Given the description of an element on the screen output the (x, y) to click on. 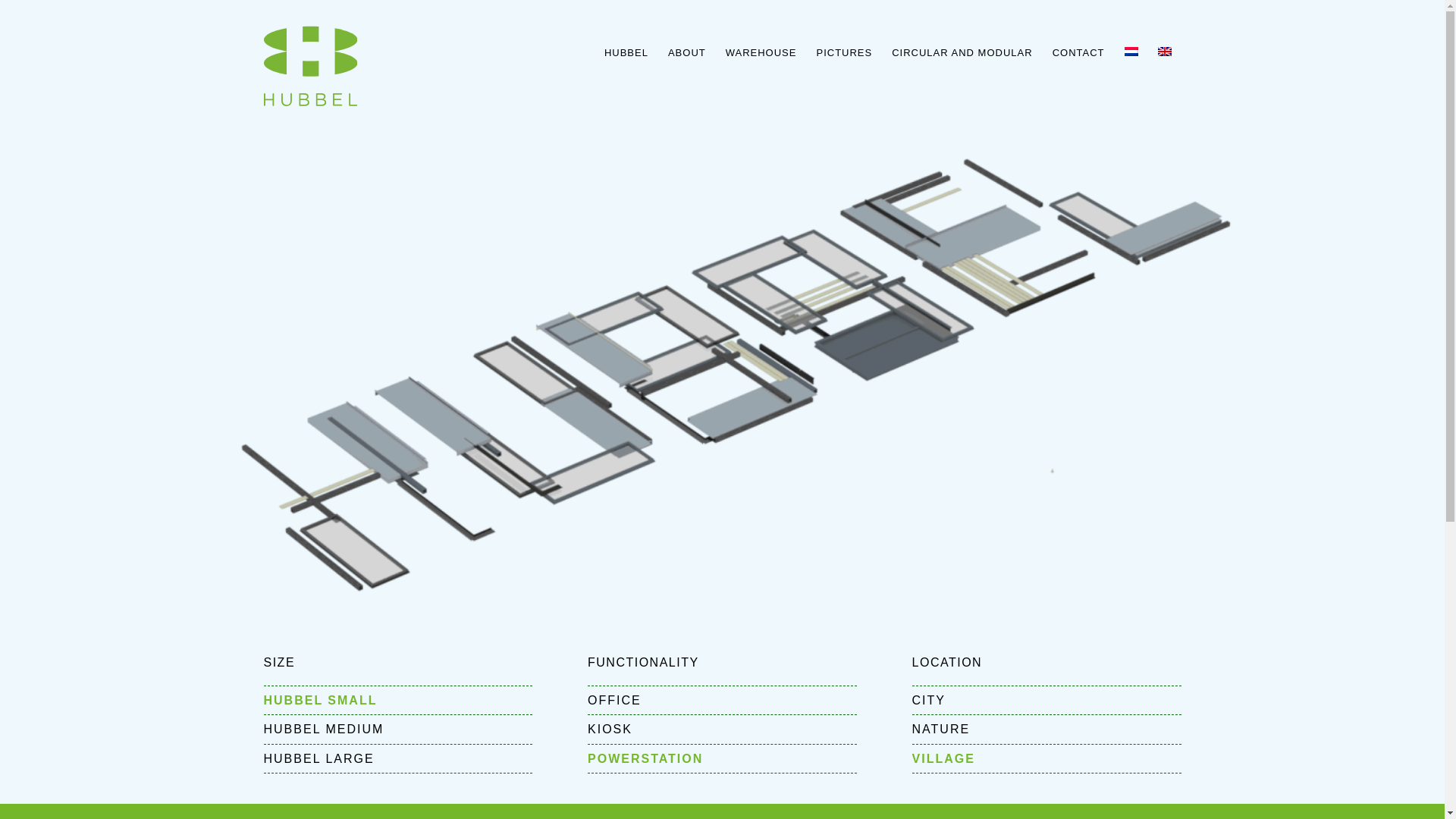
KIOSK (722, 728)
OFFICE (722, 700)
CIRCULAR AND MODULAR (962, 53)
English (1163, 51)
NATURE (1046, 728)
HUBBEL MEDIUM (397, 728)
CITY (1046, 700)
HUBBEL LARGE (397, 758)
Nederlands (1130, 51)
